Given the description of an element on the screen output the (x, y) to click on. 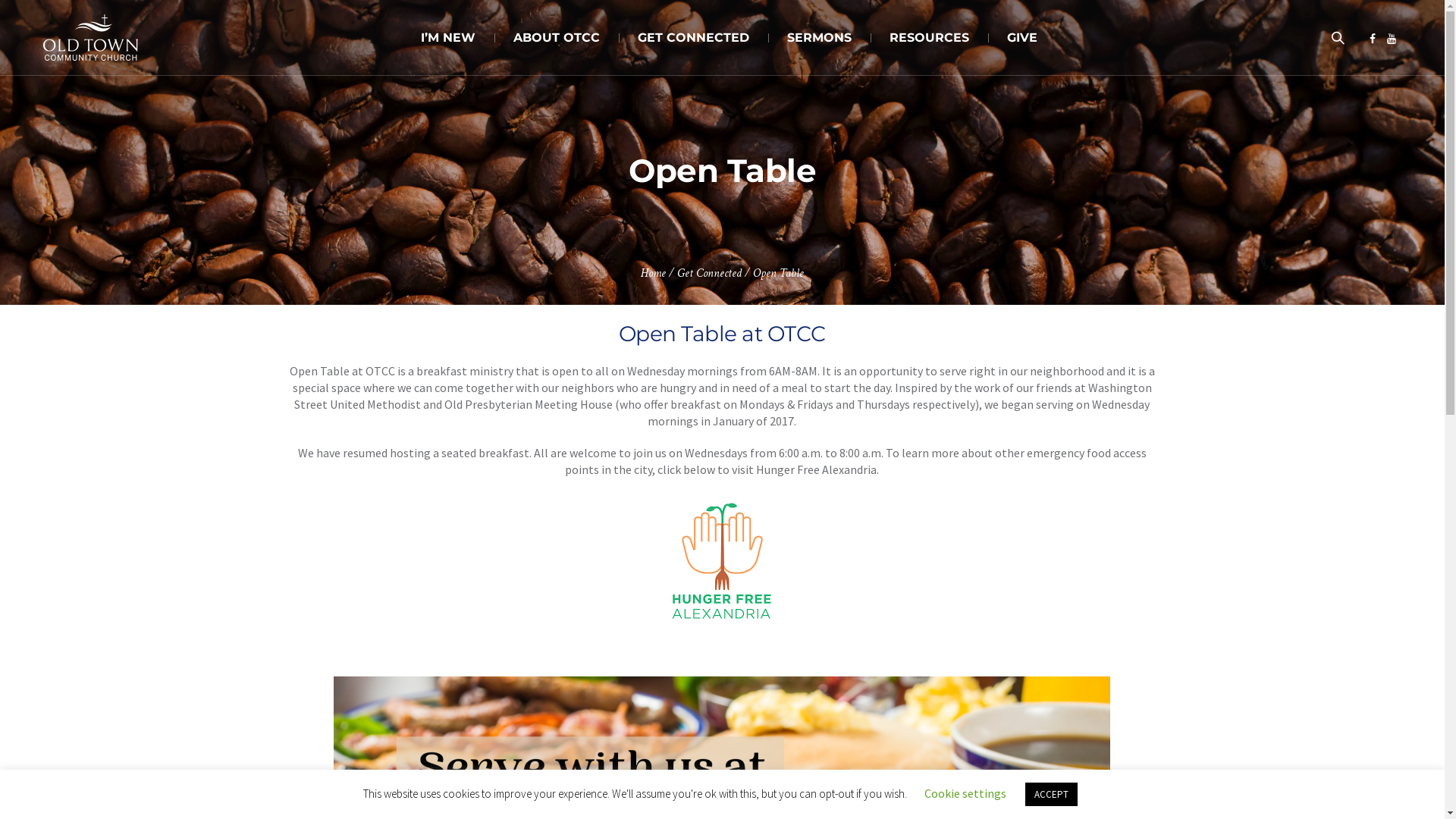
ABOUT OTCC Element type: text (556, 37)
GET CONNECTED Element type: text (693, 37)
Get Connected Element type: text (709, 273)
SERMONS Element type: text (819, 37)
ACCEPT Element type: text (1051, 794)
Home Element type: text (652, 273)
RESOURCES Element type: text (929, 37)
GIVE Element type: text (1022, 37)
Youtube Element type: hover (1391, 38)
Facebook Element type: hover (1372, 38)
Cookie settings Element type: text (965, 792)
